Given the description of an element on the screen output the (x, y) to click on. 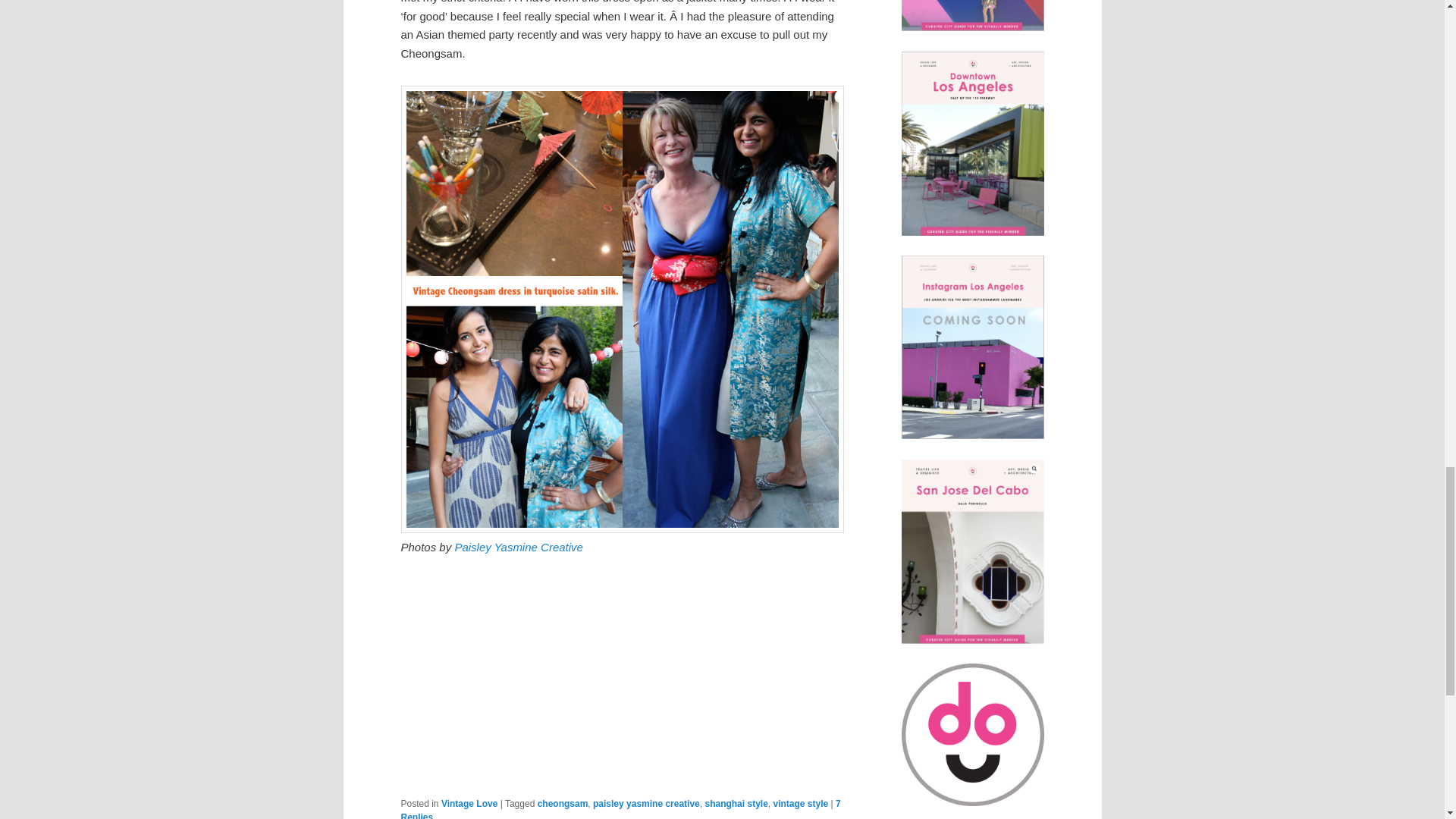
7 Replies (620, 808)
Vintage Love (469, 803)
cheongsam (562, 803)
vintage style (800, 803)
paisley yasmine creative (646, 803)
shanghai style (735, 803)
Paisley Yasmine Creative (518, 546)
